Given the description of an element on the screen output the (x, y) to click on. 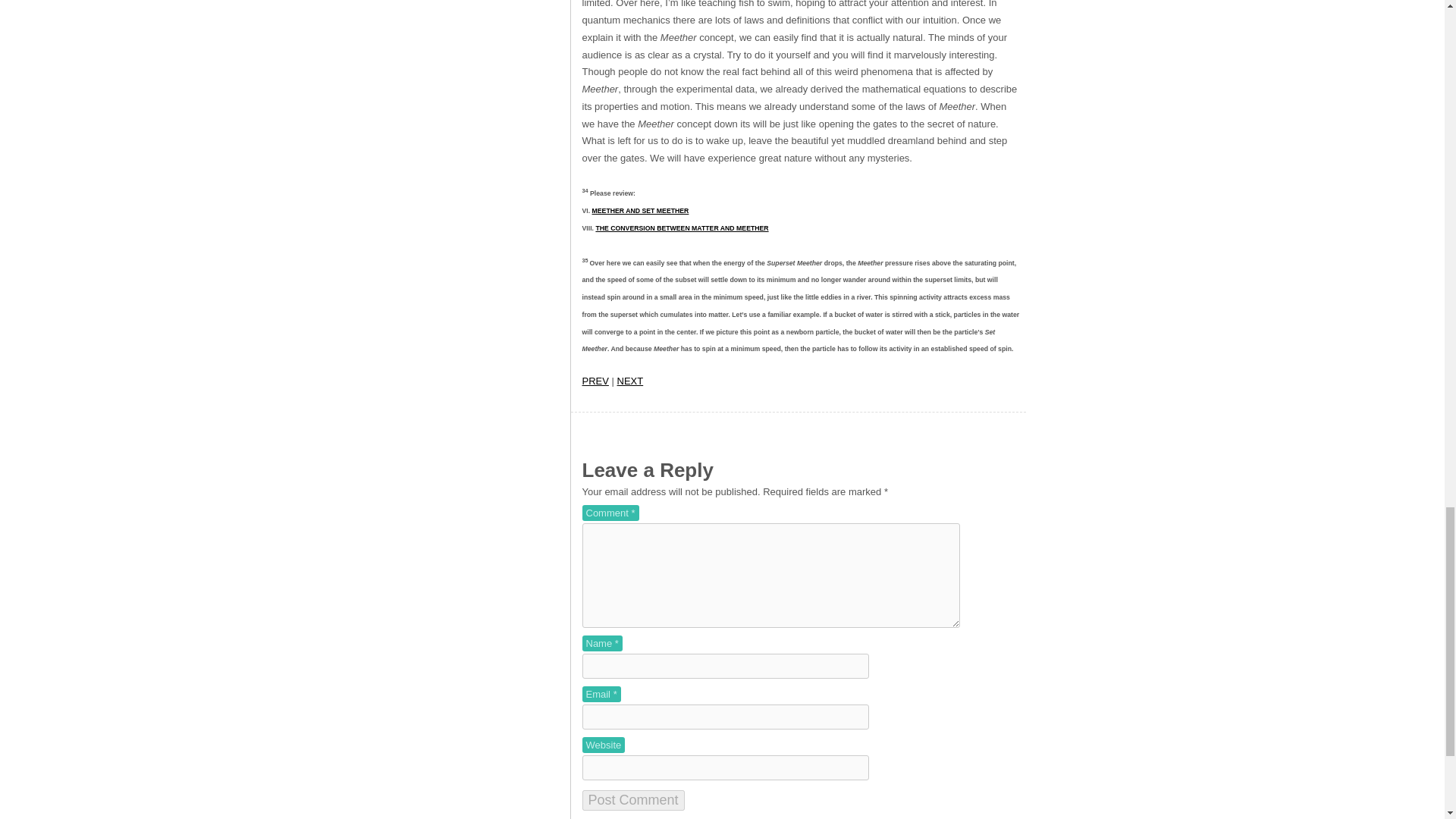
Post Comment (633, 800)
VI. MEETHER AND SET MEETHER (640, 210)
The Logic Behind Weirdness and the Unknown (595, 380)
VIII. THE CONVERSION BETWEEN MATTER AND MEETHER (681, 227)
